Given the description of an element on the screen output the (x, y) to click on. 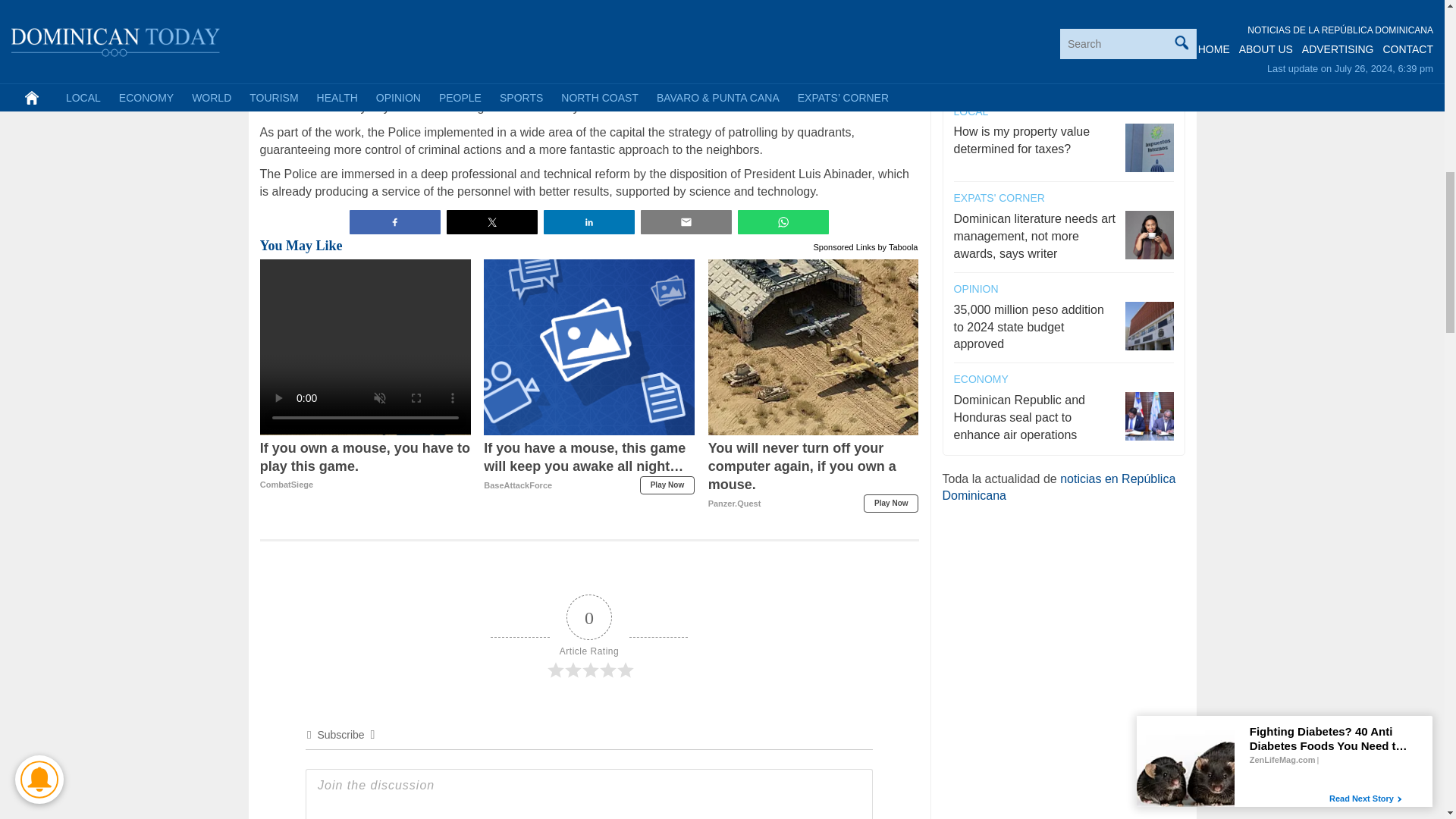
If you own a mouse, you have to play this game. (365, 465)
Sponsored Links (844, 245)
Play Now (890, 503)
Play Now (667, 484)
by Taboola (365, 465)
